Given the description of an element on the screen output the (x, y) to click on. 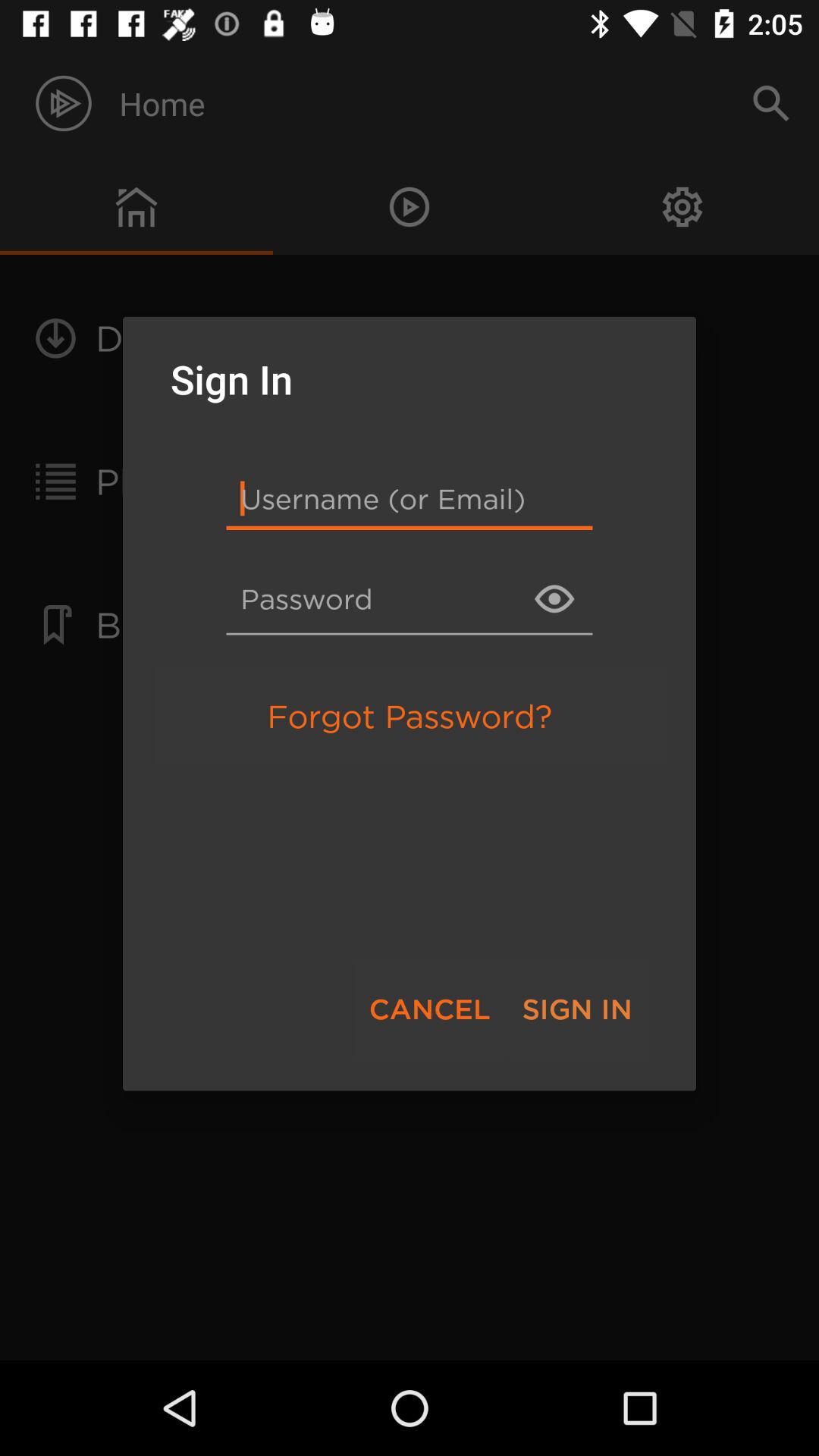
flip until cancel item (429, 1009)
